Given the description of an element on the screen output the (x, y) to click on. 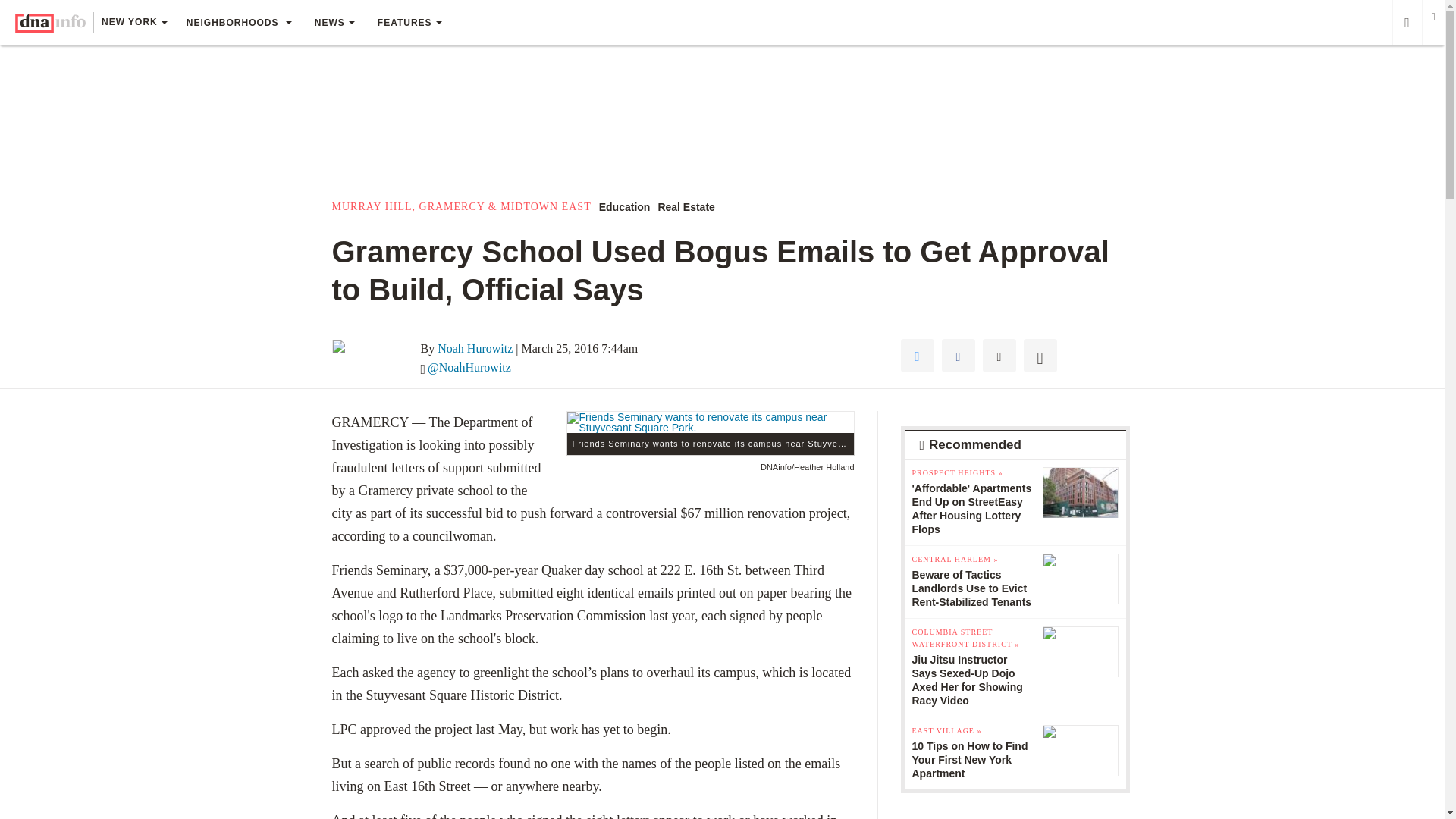
NEWS (334, 22)
NEIGHBORHOODS (238, 22)
New York - Home (49, 22)
NEW YORK (133, 23)
